Given the description of an element on the screen output the (x, y) to click on. 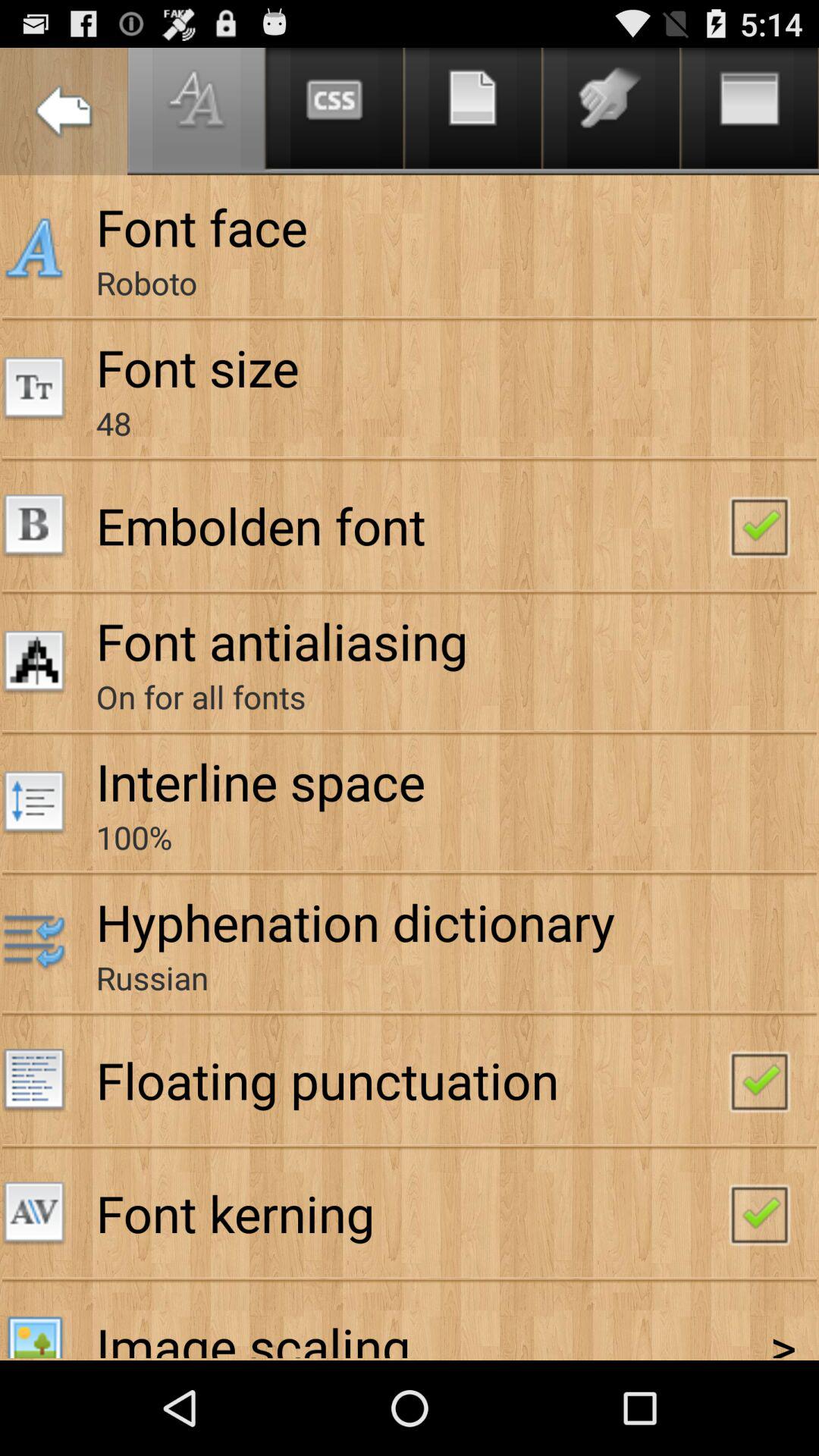
turn on item above the font face item (63, 111)
